Given the description of an element on the screen output the (x, y) to click on. 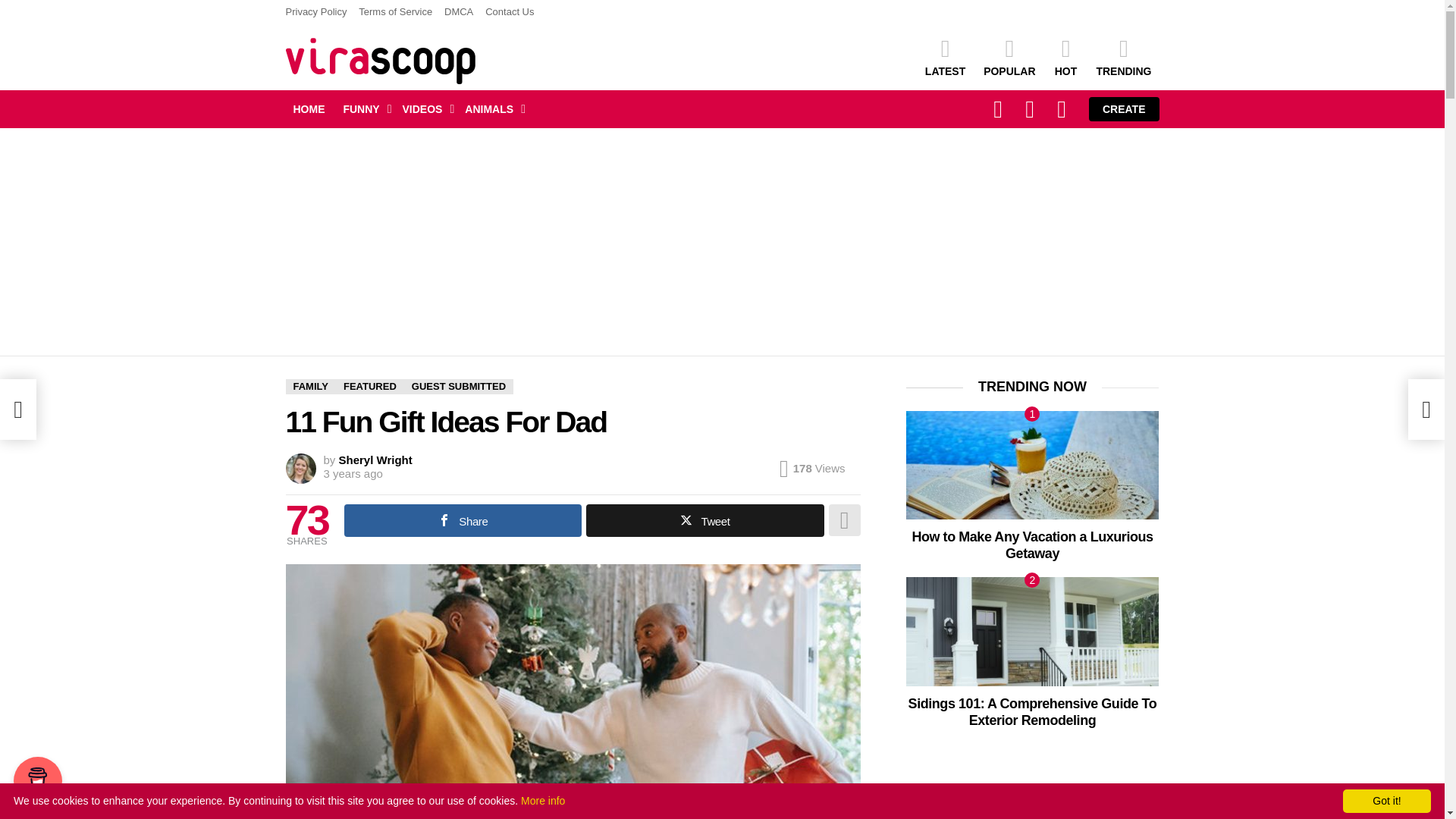
POPULAR (1008, 56)
Privacy Policy (315, 12)
ANIMALS (491, 108)
DMCA (458, 12)
FUNNY (362, 108)
Contact Us (509, 12)
VIDEOS (424, 108)
TRENDING (1122, 56)
HOME (308, 108)
Terms of Service (395, 12)
LATEST (944, 56)
HOT (1064, 56)
